Given the description of an element on the screen output the (x, y) to click on. 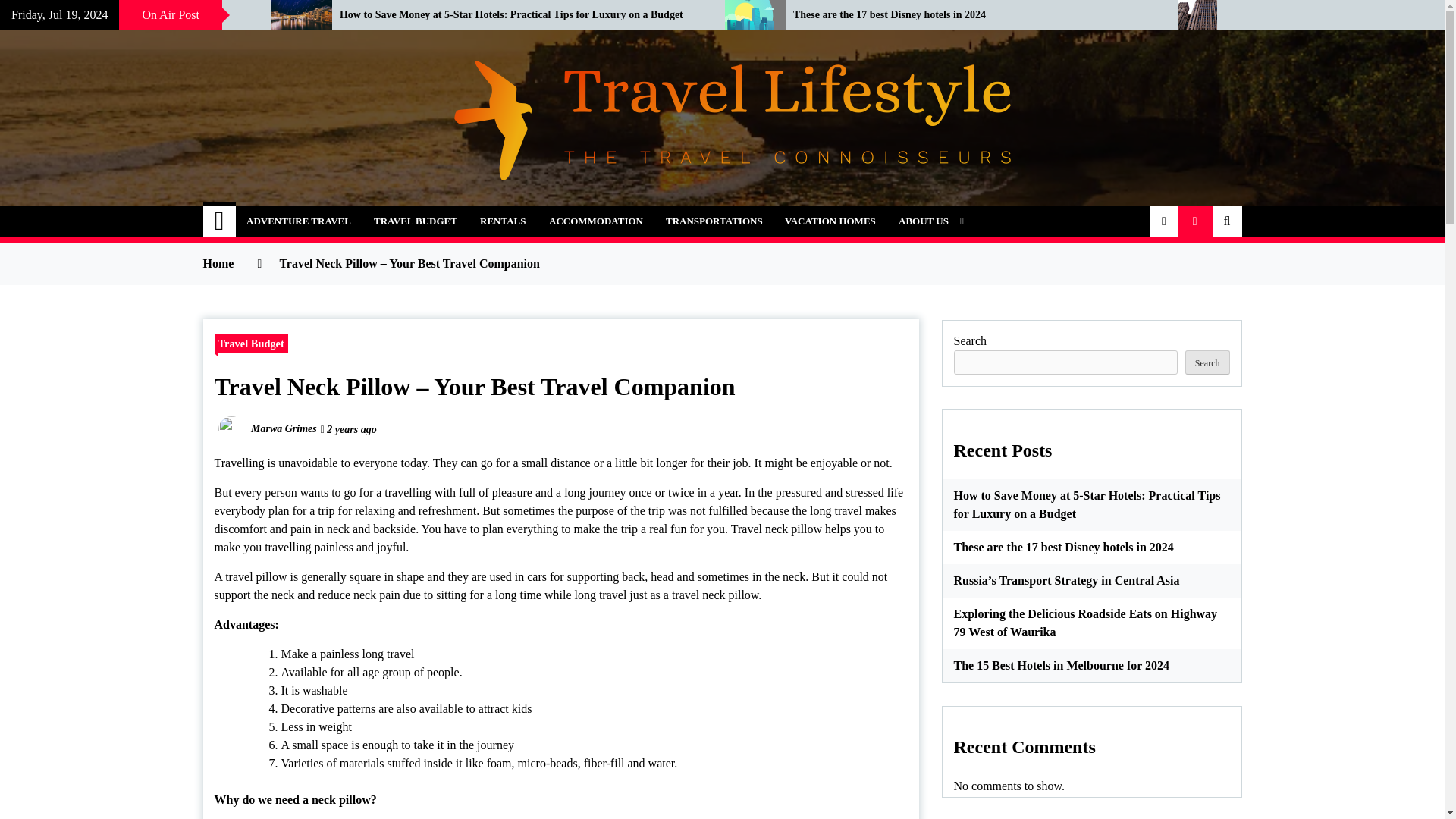
Home (219, 221)
These are the 17 best Disney hotels in 2024 (974, 15)
